Given the description of an element on the screen output the (x, y) to click on. 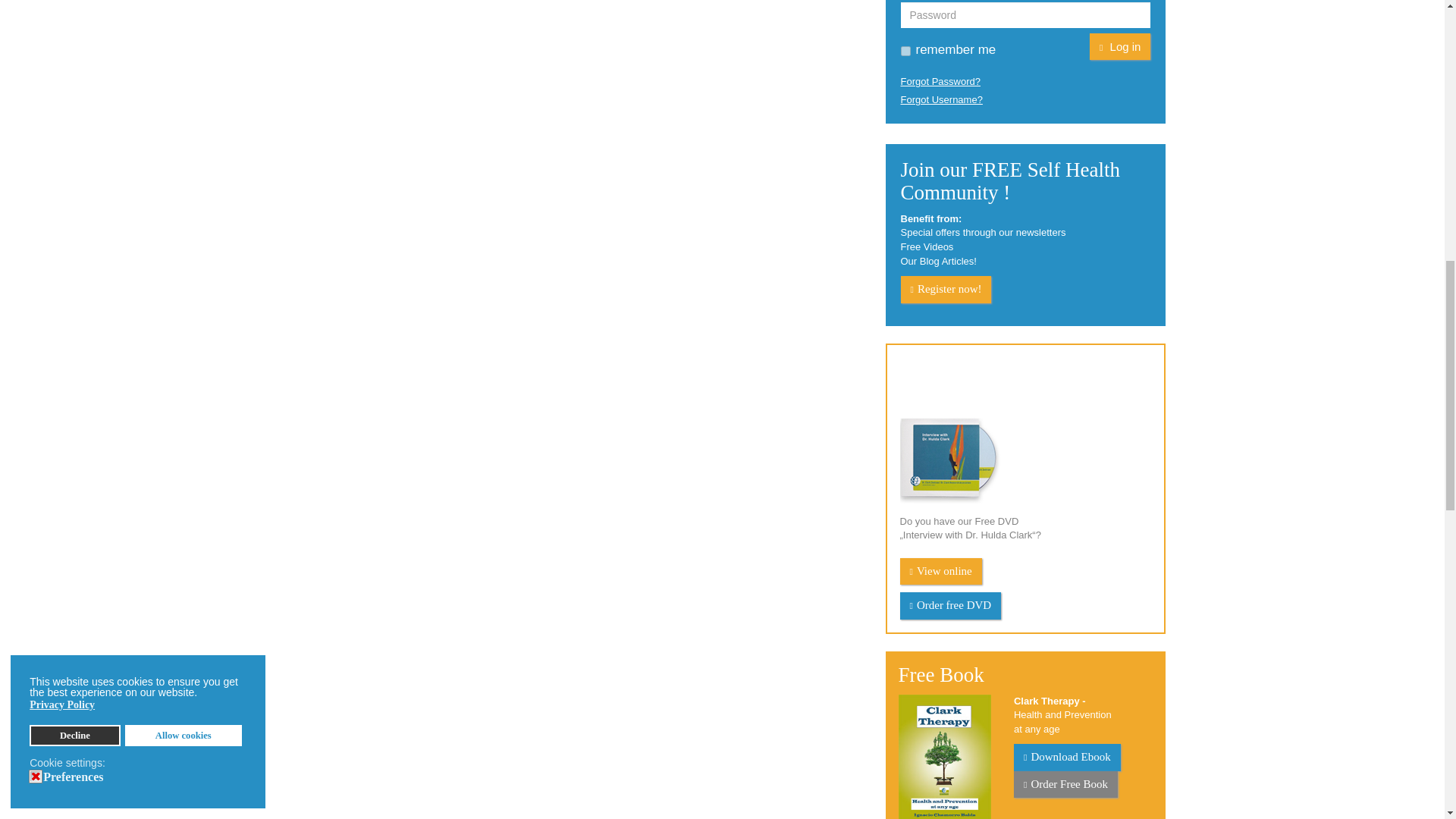
yes (906, 50)
